Given the description of an element on the screen output the (x, y) to click on. 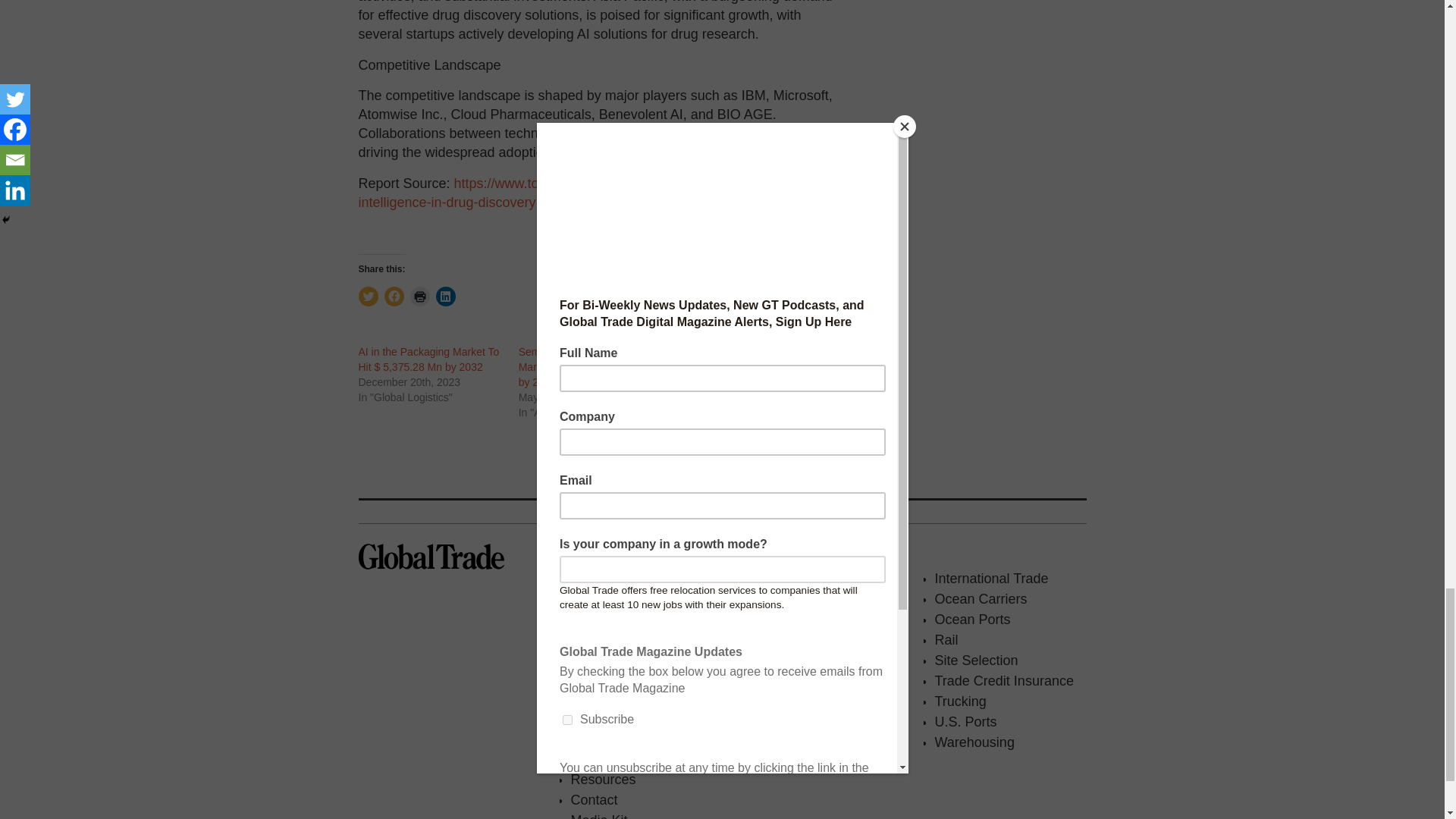
Click to share on LinkedIn (444, 296)
Click to share on Facebook (393, 296)
Click to print (419, 296)
Click to share on Twitter (367, 296)
